Given the description of an element on the screen output the (x, y) to click on. 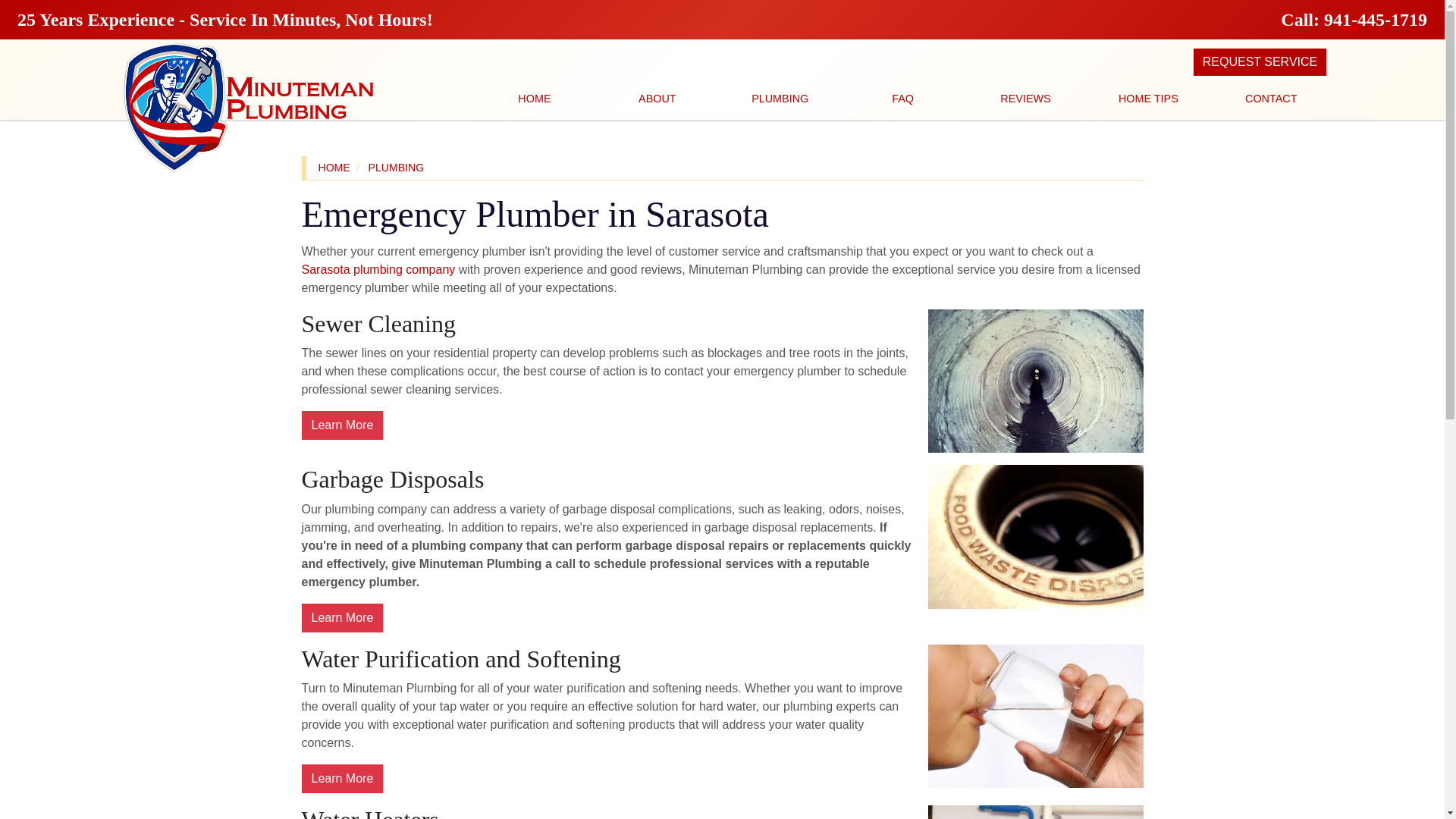
Call: 941-445-1719 (1353, 19)
PLUMBING (780, 99)
REVIEWS (1025, 99)
REQUEST SERVICE (1259, 62)
Learn More (342, 425)
Sarasota plumbing company (378, 269)
Learn More (342, 617)
HOME (534, 99)
Learn More (342, 778)
PLUMBING (396, 167)
HOME TIPS (1147, 99)
HOME (334, 167)
ABOUT (657, 99)
FAQ (902, 99)
CONTACT (1270, 99)
